Given the description of an element on the screen output the (x, y) to click on. 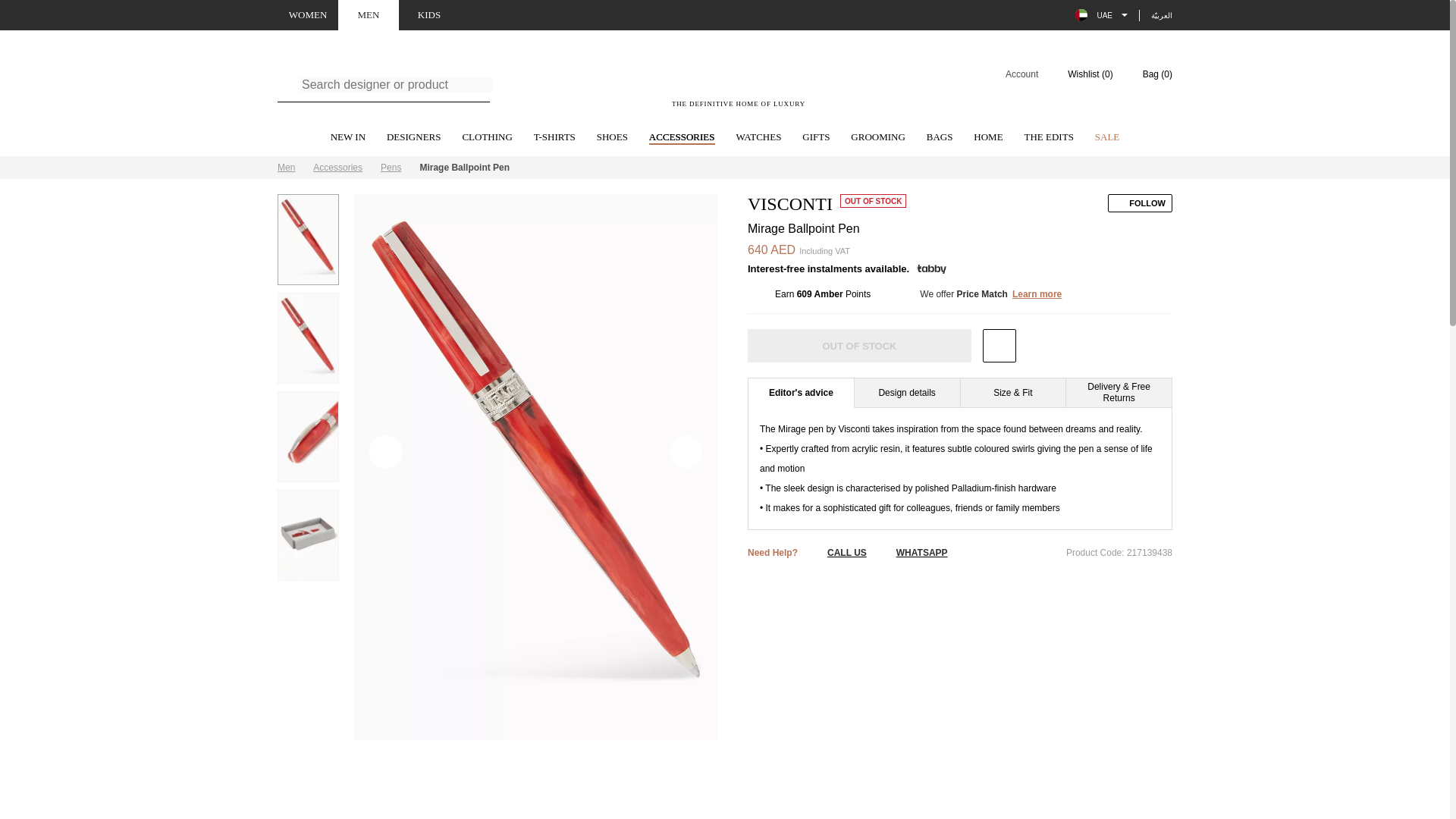
BAGS (939, 137)
GIFTS (815, 137)
CLOTHING (486, 137)
Men (286, 167)
SHOES (611, 137)
MEN (725, 167)
NEW IN (367, 15)
ACCESSORIES (347, 137)
WOMEN (681, 137)
